Given the description of an element on the screen output the (x, y) to click on. 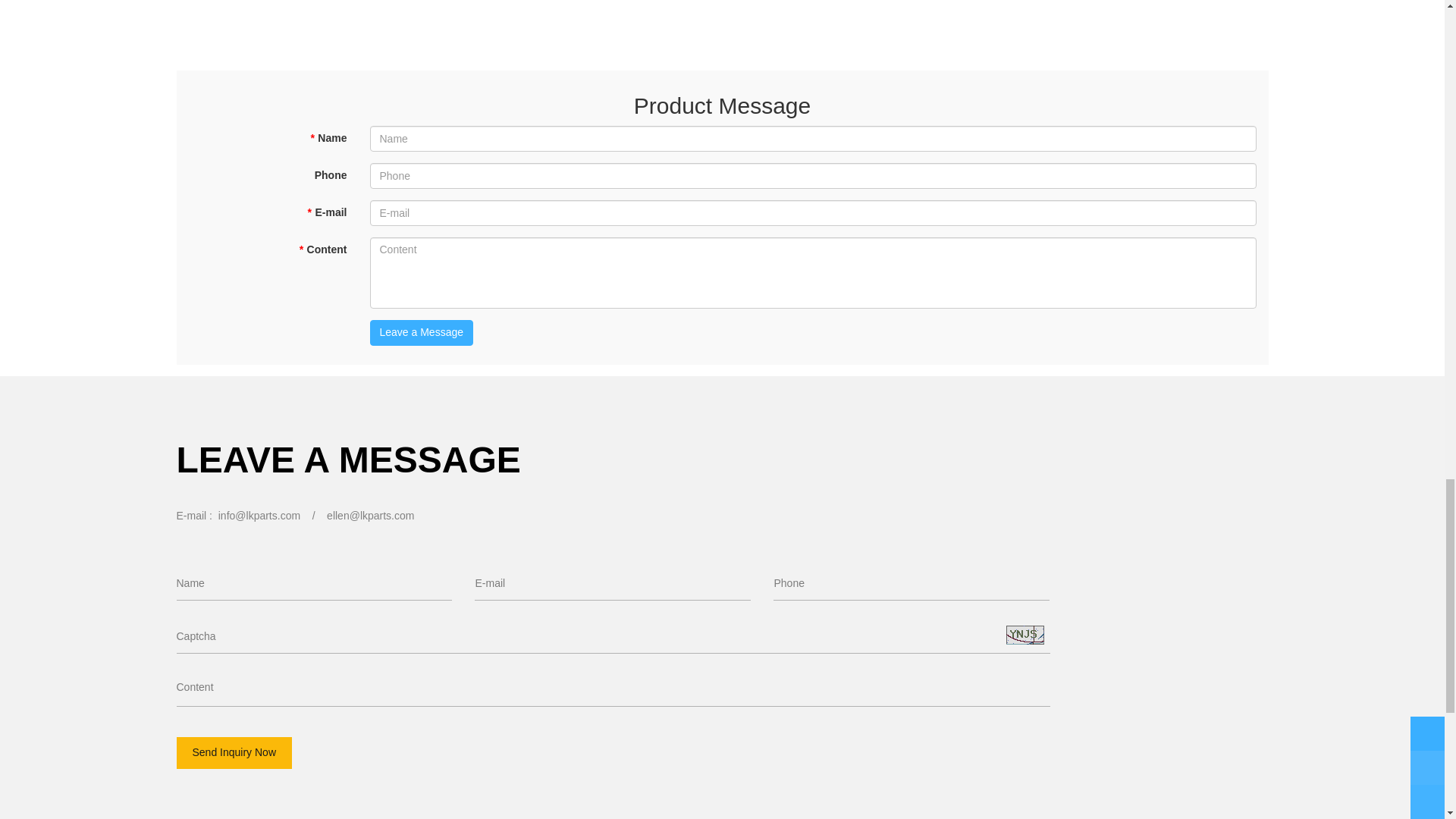
Leave a Message (421, 332)
Send Inquiry Now (234, 753)
